Given the description of an element on the screen output the (x, y) to click on. 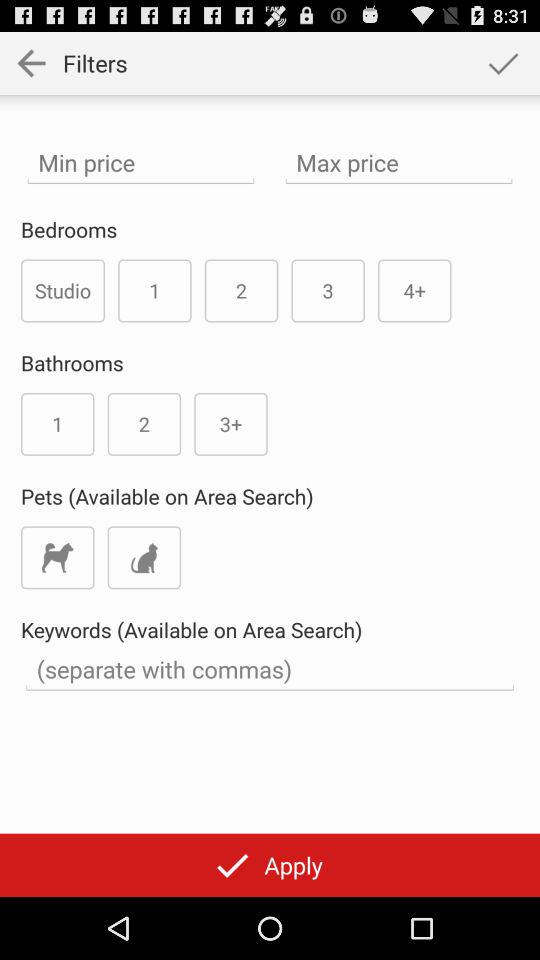
enter a price (398, 162)
